Given the description of an element on the screen output the (x, y) to click on. 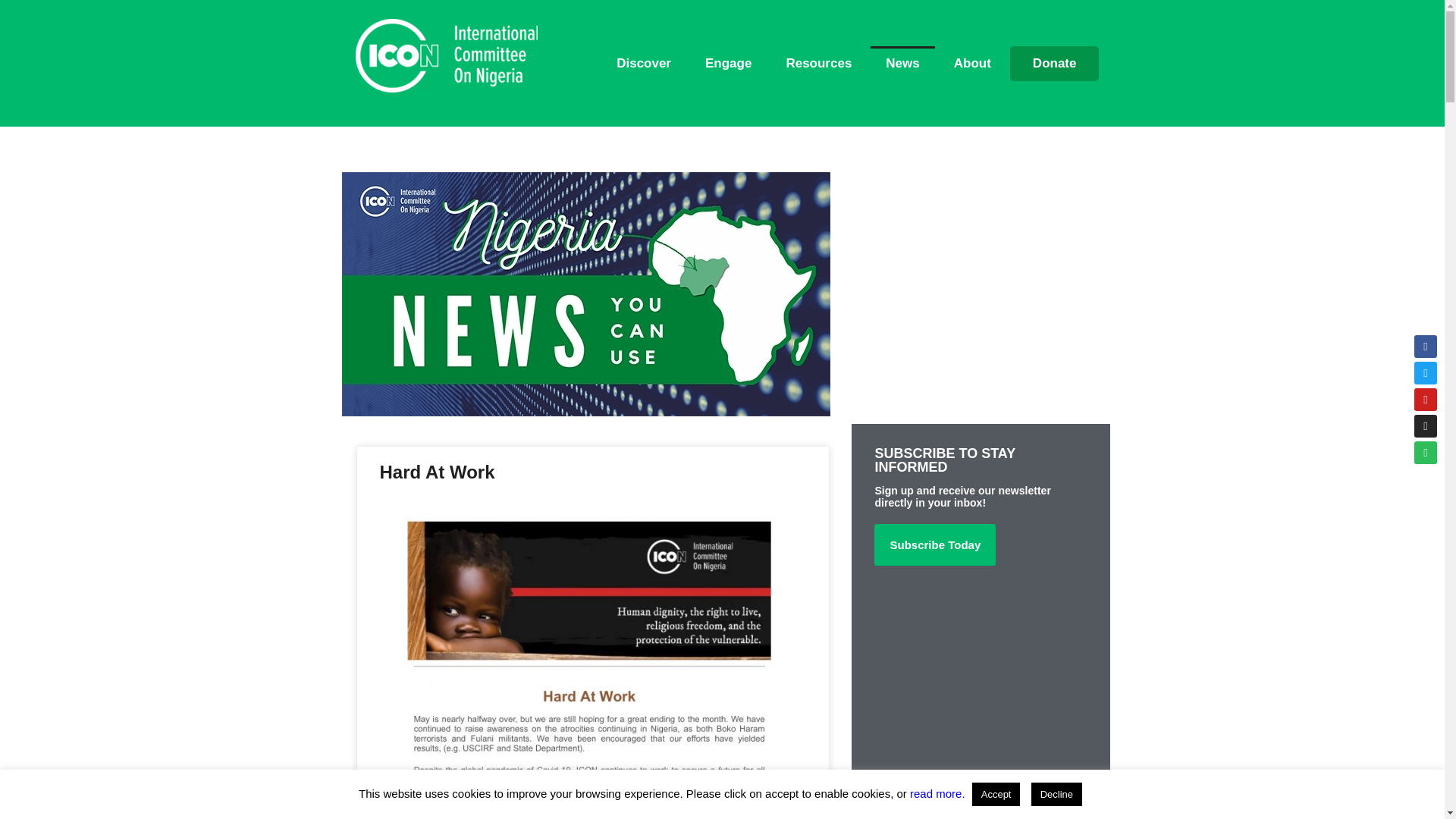
Engage (728, 63)
Resources (818, 63)
About (972, 63)
Donate (1054, 63)
Discover (643, 63)
News (902, 63)
